Given the description of an element on the screen output the (x, y) to click on. 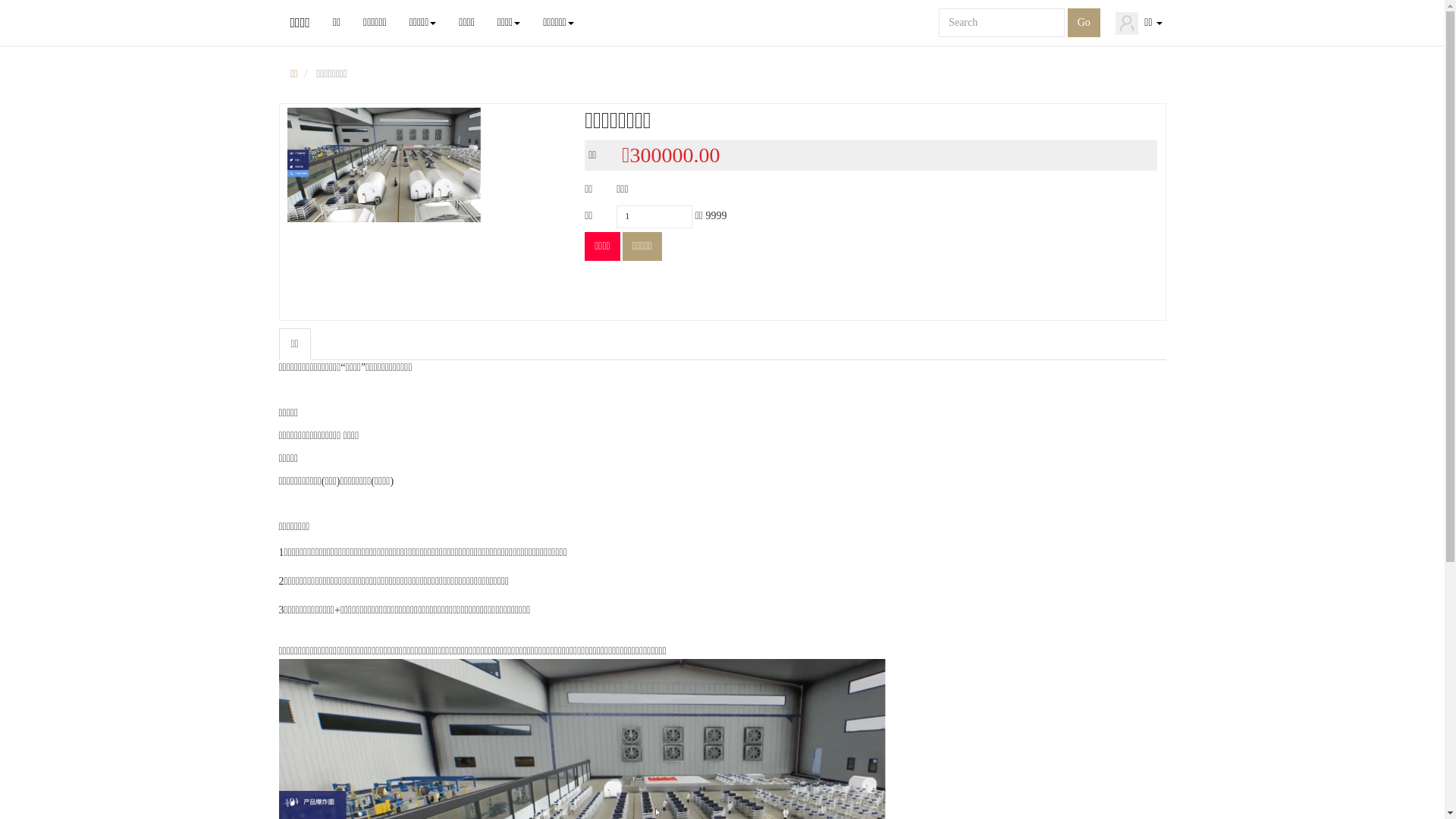
Go Element type: text (1083, 22)
